Given the description of an element on the screen output the (x, y) to click on. 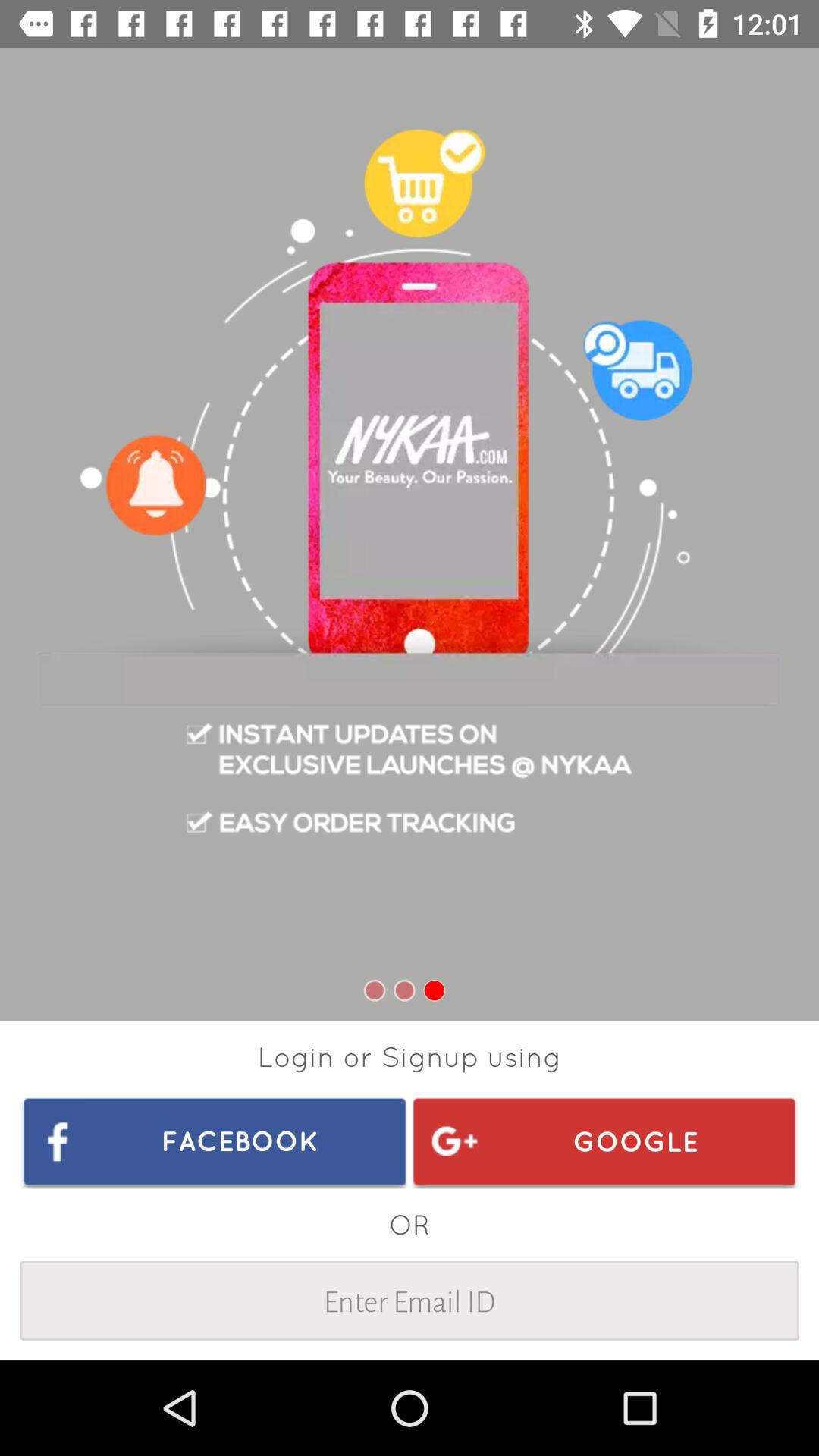
tap the item below or icon (409, 1300)
